Given the description of an element on the screen output the (x, y) to click on. 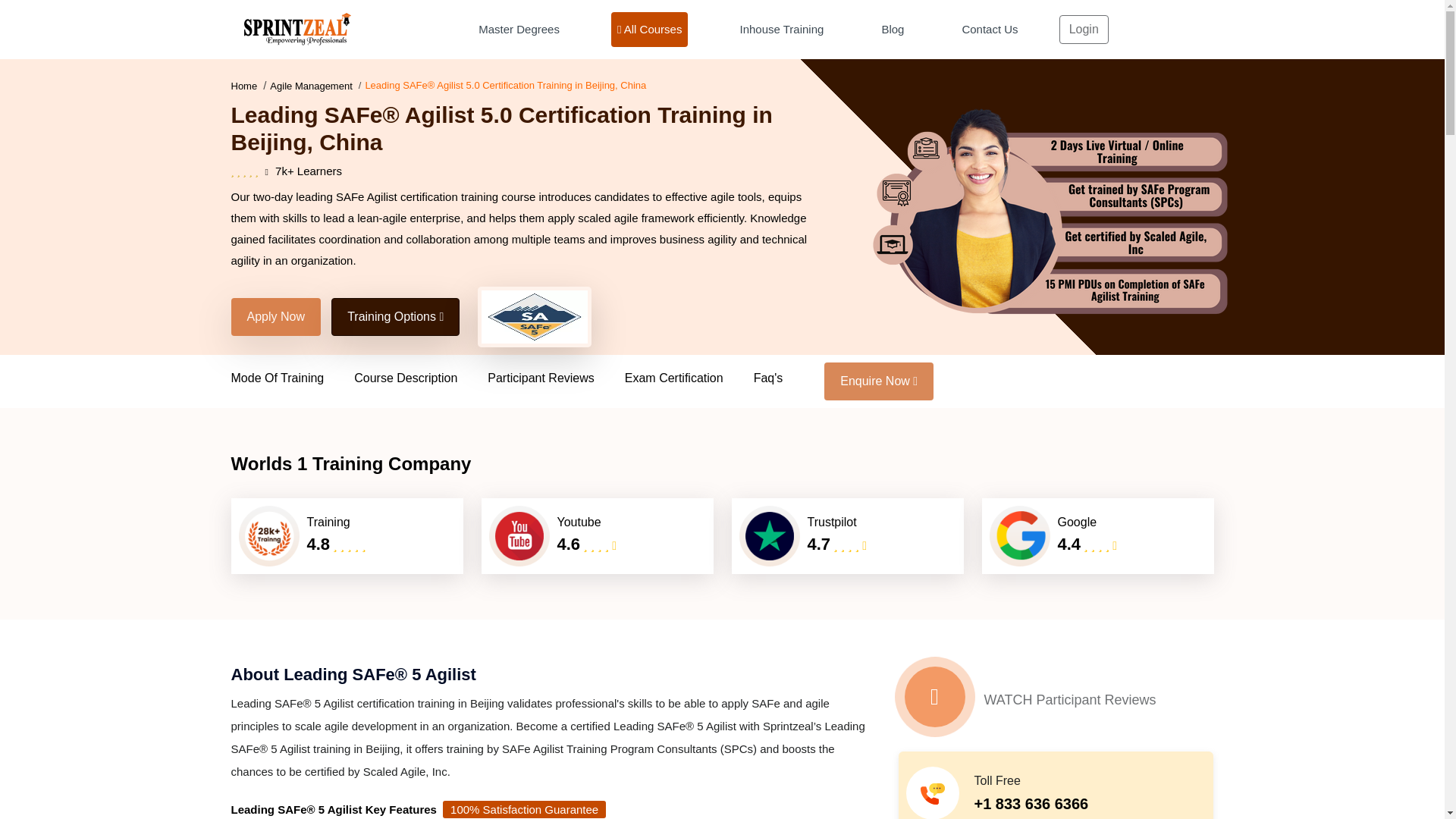
Course Description (420, 377)
Exam Certification (689, 377)
Master Degrees (518, 29)
leading safe agilist Certification (534, 316)
Inhouse Training (781, 29)
Contact Us (989, 29)
Blog (892, 29)
leading safe agilist Certification (1049, 210)
Mode Of Training (291, 377)
Faq's (783, 377)
All Courses (649, 29)
Agile Management (310, 85)
Home (243, 85)
Participant Reviews (555, 377)
